Given the description of an element on the screen output the (x, y) to click on. 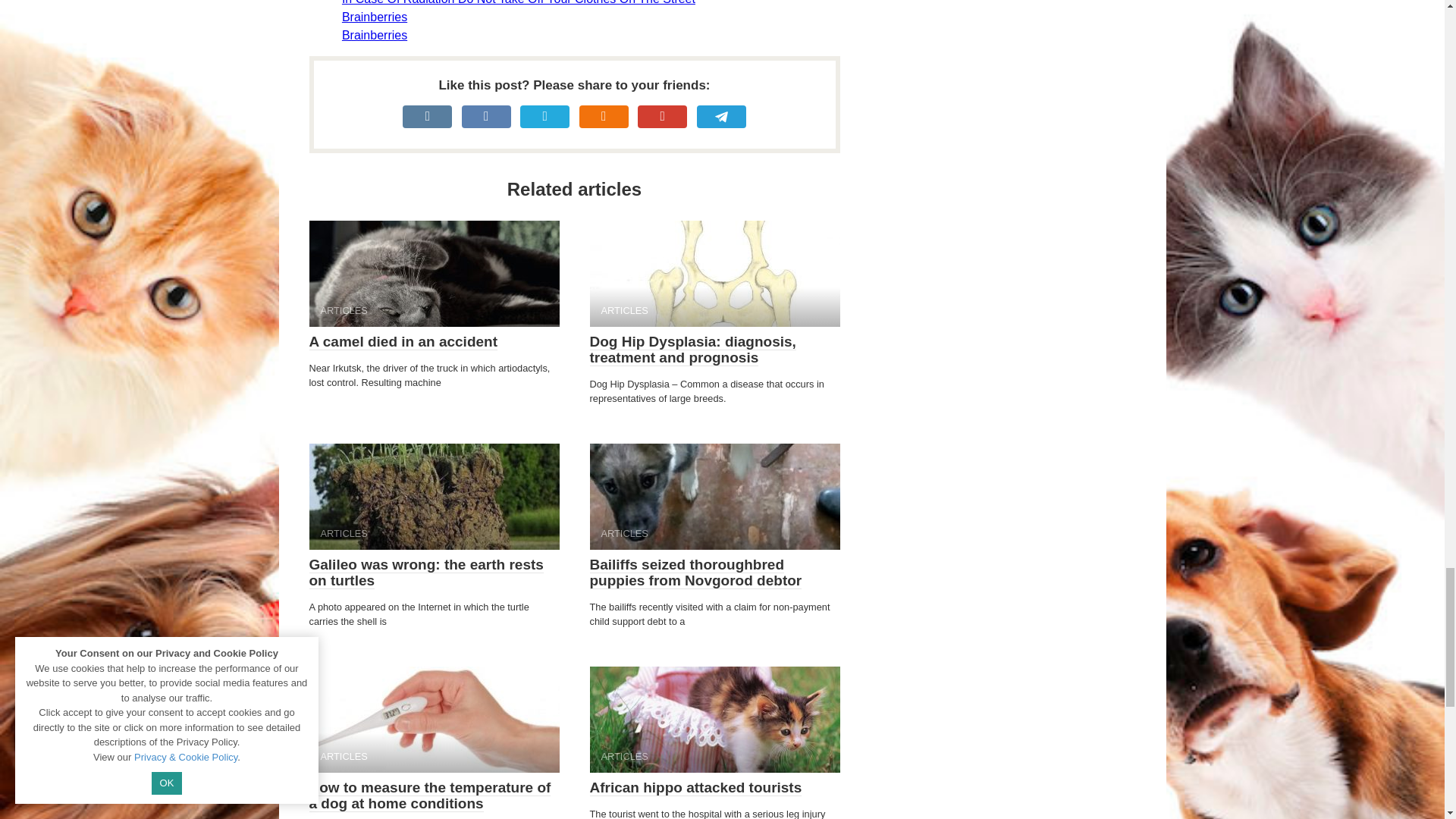
ARTICLES (714, 496)
ARTICLES (433, 273)
ARTICLES (433, 719)
A camel died in an accident (402, 341)
ARTICLES (714, 719)
Galileo was wrong: the earth rests on turtles (425, 572)
African hippo attacked tourists (695, 787)
Bailiffs seized thoroughbred puppies from Novgorod debtor (695, 572)
How to measure the temperature of a dog at home conditions (429, 795)
ARTICLES (433, 496)
Dog Hip Dysplasia: diagnosis, treatment and prognosis (692, 349)
ARTICLES (714, 273)
